Given the description of an element on the screen output the (x, y) to click on. 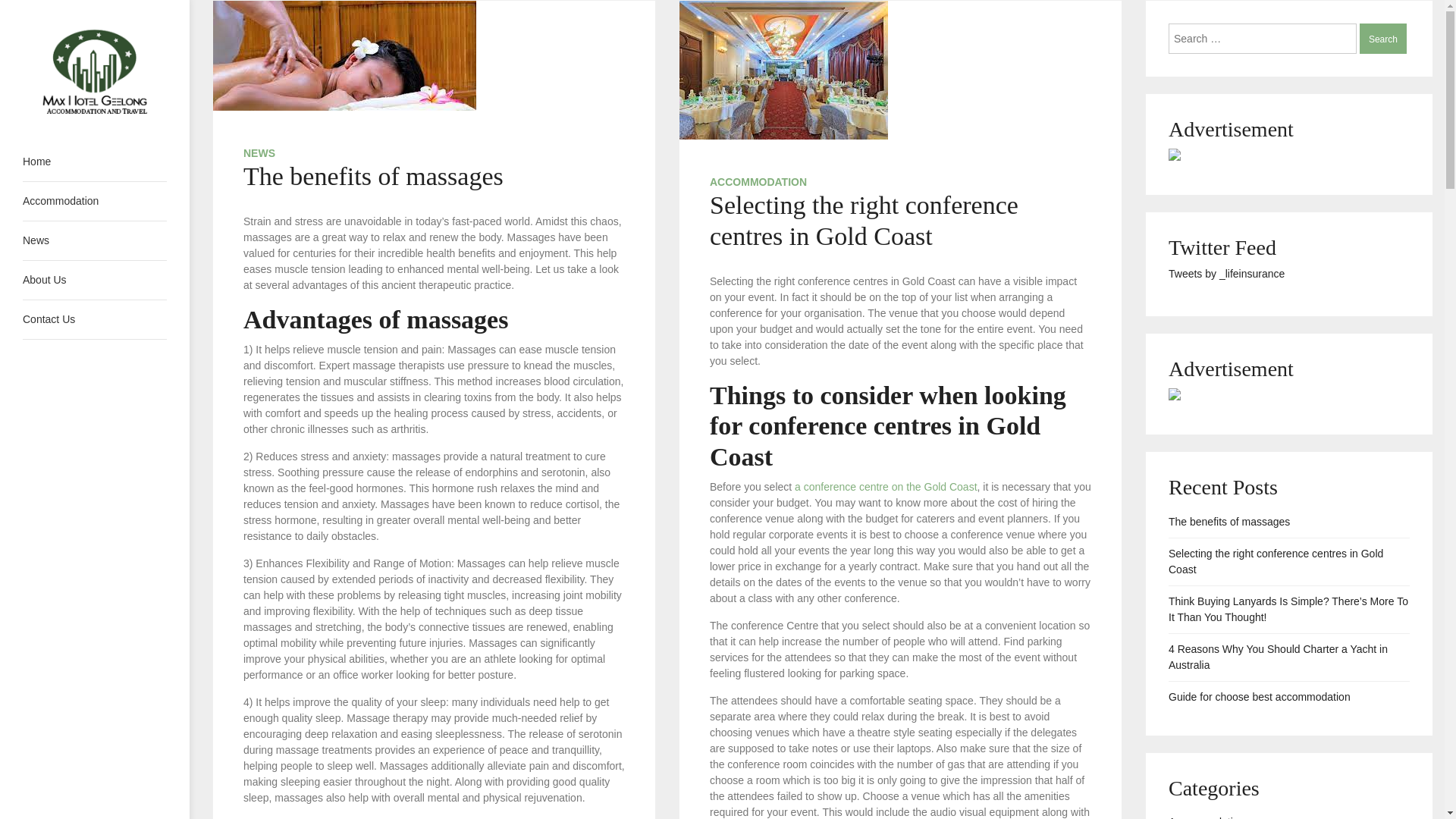
Guide for choose best accommodation Element type: text (1259, 696)
Selecting the right conference centres in Gold Coast Element type: text (1288, 561)
Contact Us Element type: text (94, 319)
The benefits of massages Element type: text (1228, 521)
Home Element type: text (94, 161)
NEWS Element type: text (259, 153)
Tweets by _lifeinsurance Element type: text (1226, 273)
ACCOMMODATION Element type: text (757, 181)
a conference centre on the Gold Coast Element type: text (885, 486)
4 Reasons Why You Should Charter a Yacht in Australia Element type: text (1288, 656)
The benefits of massages Element type: text (373, 176)
Accommodation Element type: text (94, 201)
Selecting the right conference centres in Gold Coast Element type: text (863, 220)
Max Hotel Geelong Element type: text (84, 153)
News Element type: text (94, 240)
About Us Element type: text (94, 279)
Search Element type: text (1382, 38)
